Given the description of an element on the screen output the (x, y) to click on. 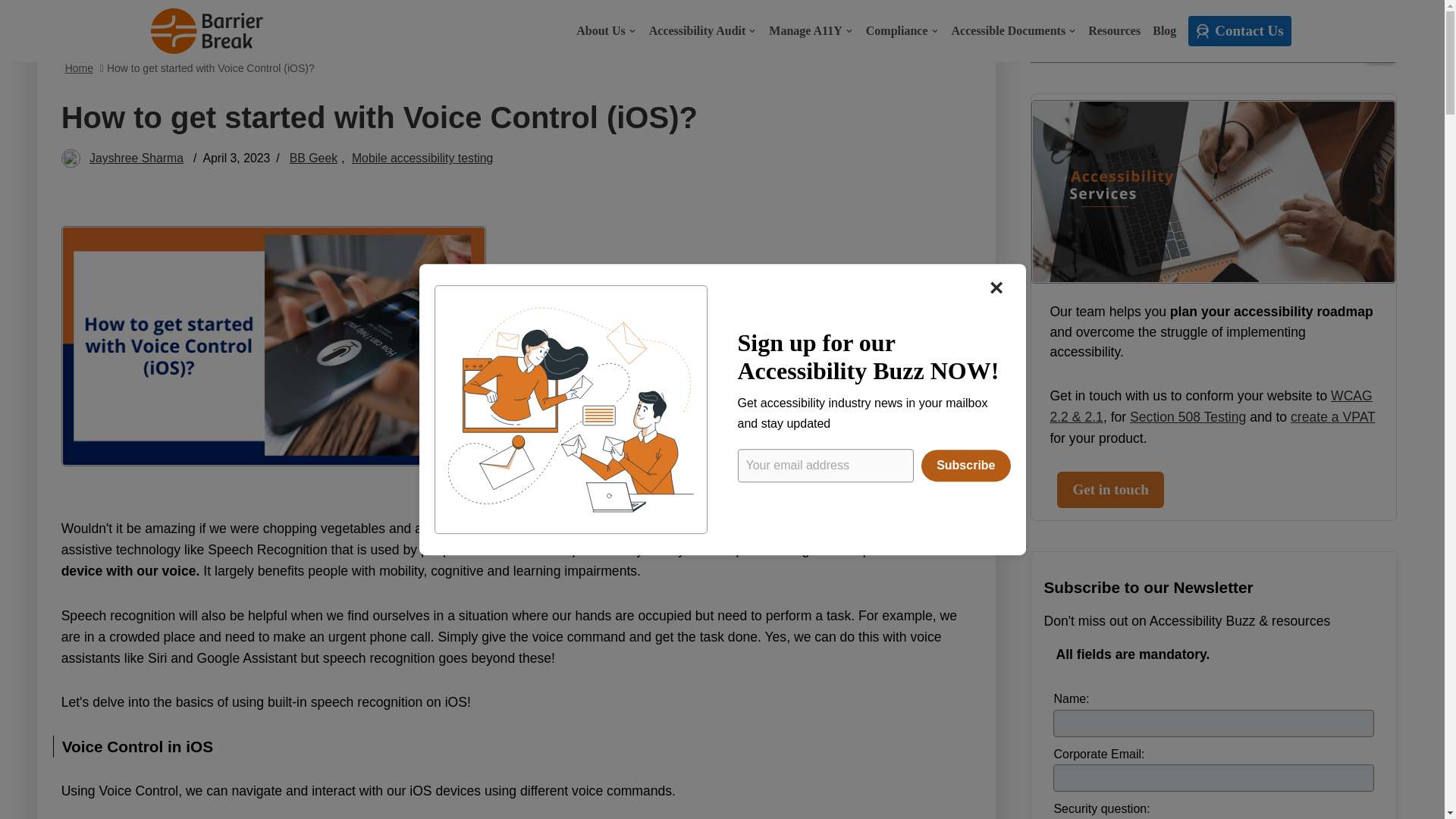
Subscribe (965, 465)
Compliance (901, 30)
Accessibility Audit (702, 30)
Contact Us (1239, 30)
Manage A11Y (809, 30)
Posts by Jayshree Sharma (136, 158)
Skip to content (11, 31)
About Us (604, 30)
Resources (1113, 30)
Accessible Documents (1013, 30)
